Given the description of an element on the screen output the (x, y) to click on. 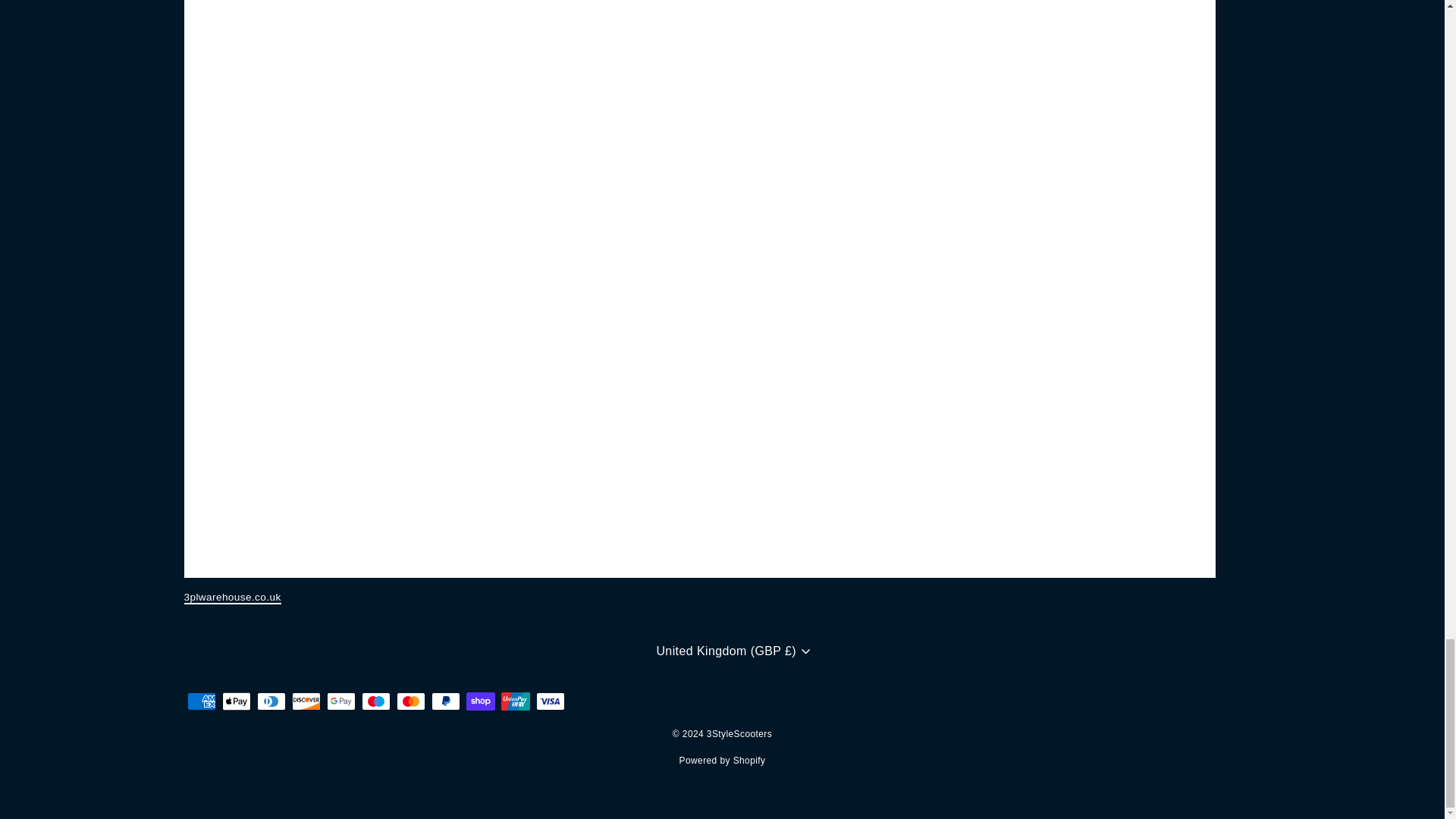
GoFulfil (232, 597)
